Given the description of an element on the screen output the (x, y) to click on. 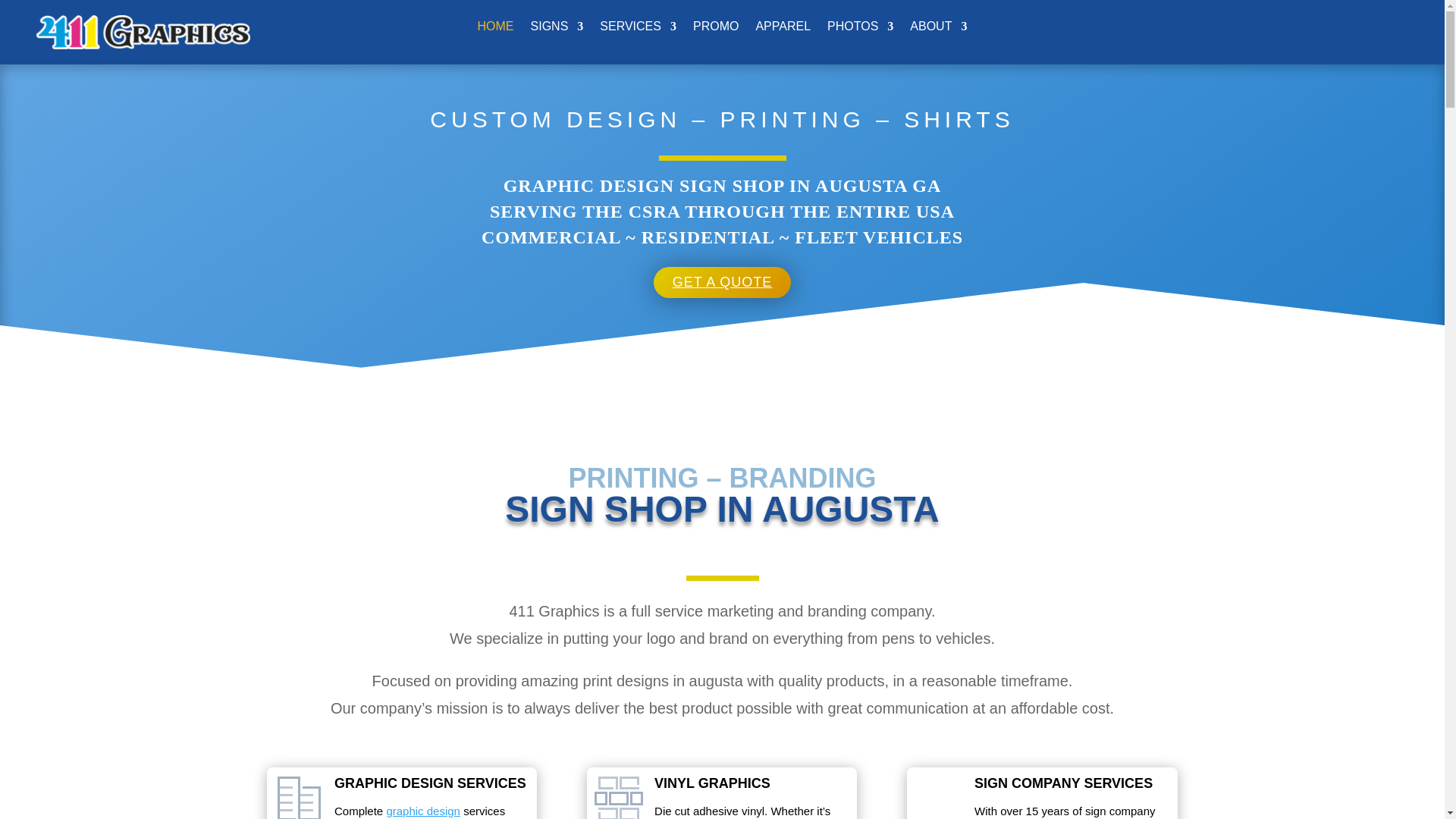
GRAPHIC DESIGN SERVICES Element type: text (430, 782)
APPAREL Element type: text (782, 29)
SERVICES Element type: text (637, 29)
ABOUT Element type: text (938, 29)
HOME Element type: text (495, 29)
SIGNS Element type: text (556, 29)
PHOTOS Element type: text (860, 29)
PROMO Element type: text (715, 29)
GET A QUOTE Element type: text (722, 282)
graphic design Element type: text (422, 810)
411 Graphics Augusta GA Sign Printing Design CMYK Logo Element type: hover (143, 32)
